Given the description of an element on the screen output the (x, y) to click on. 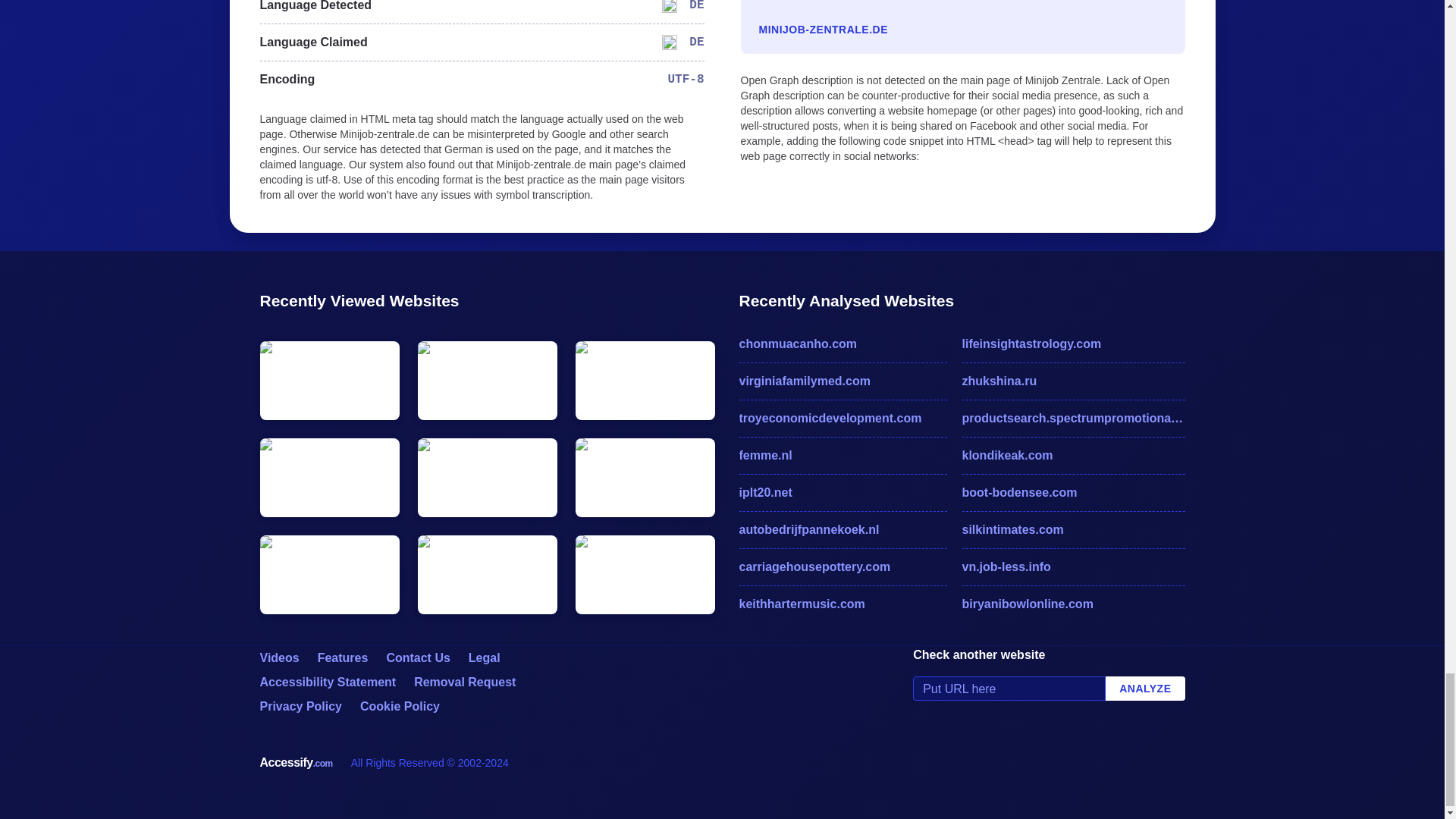
Features (342, 657)
iplt20.net (842, 493)
boot-bodensee.com (1072, 493)
carriagehousepottery.com (842, 566)
silkintimates.com (1072, 529)
productsearch.spectrumpromotional.com (1072, 418)
klondikeak.com (1072, 455)
virginiafamilymed.com (842, 381)
chonmuacanho.com (842, 343)
troyeconomicdevelopment.com (842, 418)
Videos (278, 657)
Screencasts: video tutorials and guides (278, 657)
Legal (484, 657)
femme.nl (842, 455)
